Given the description of an element on the screen output the (x, y) to click on. 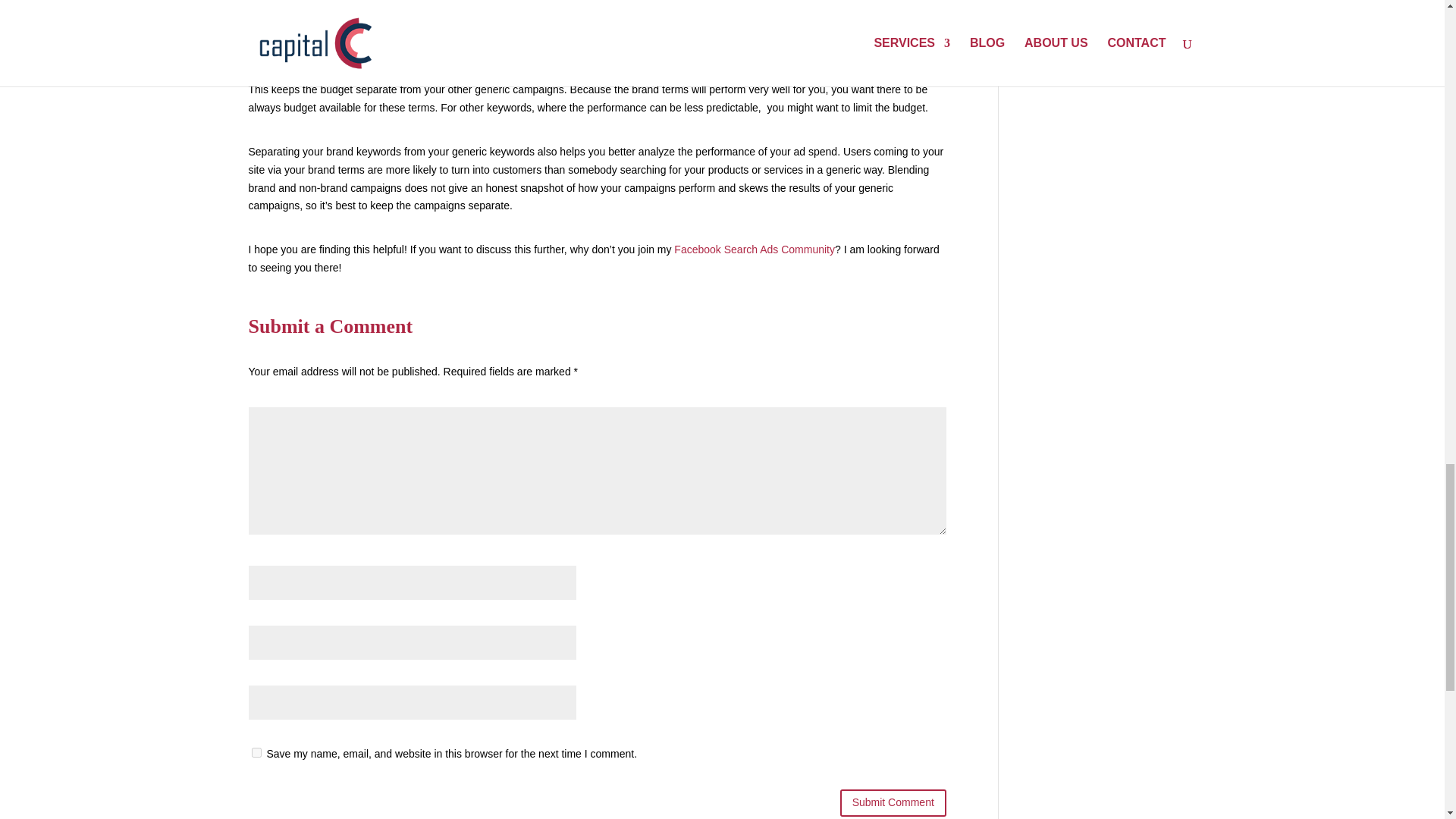
yes (256, 752)
Submit Comment (893, 802)
Submit Comment (893, 802)
Facebook Search Ads Community (754, 249)
